Given the description of an element on the screen output the (x, y) to click on. 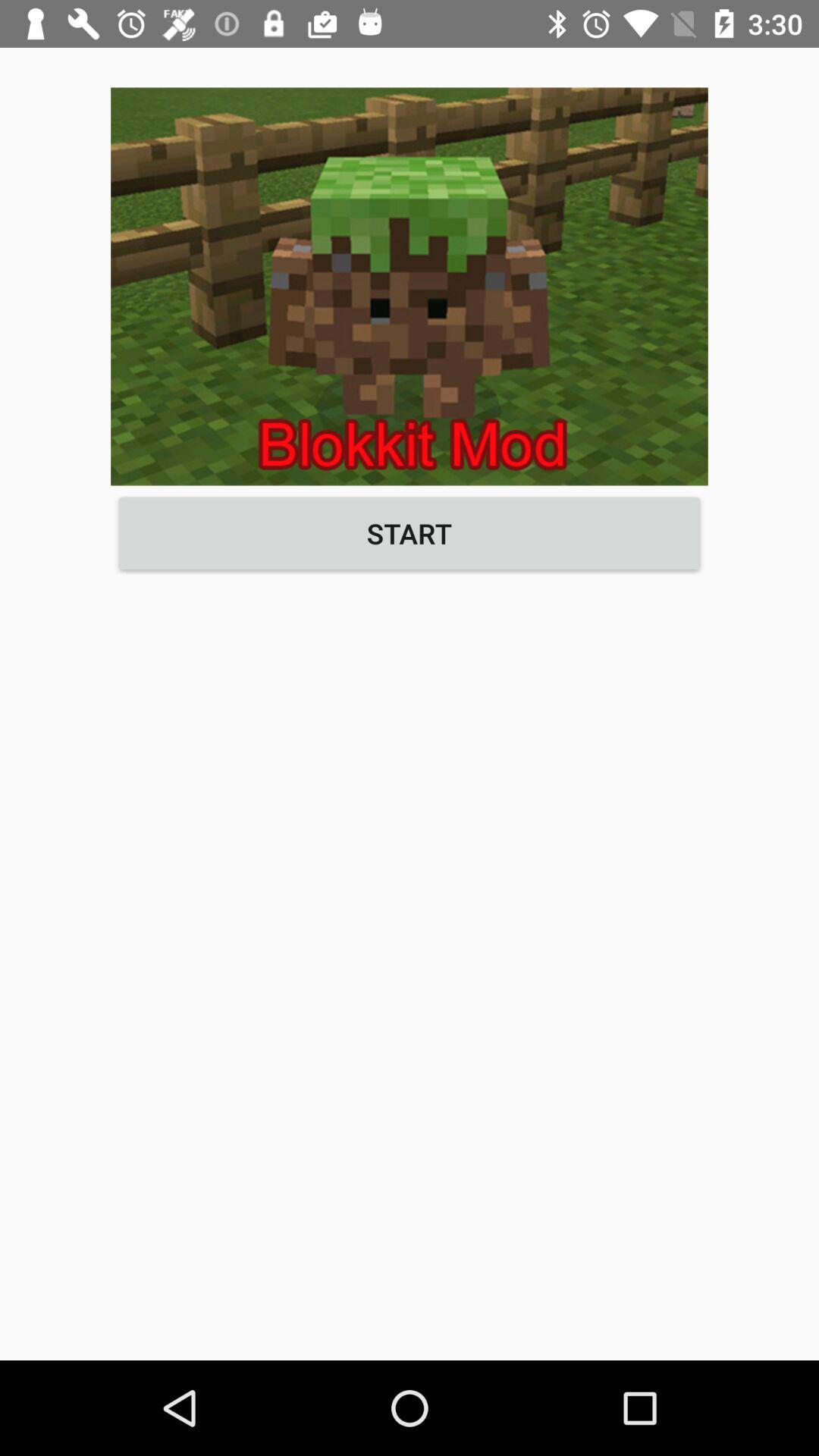
turn off start button (409, 533)
